Given the description of an element on the screen output the (x, y) to click on. 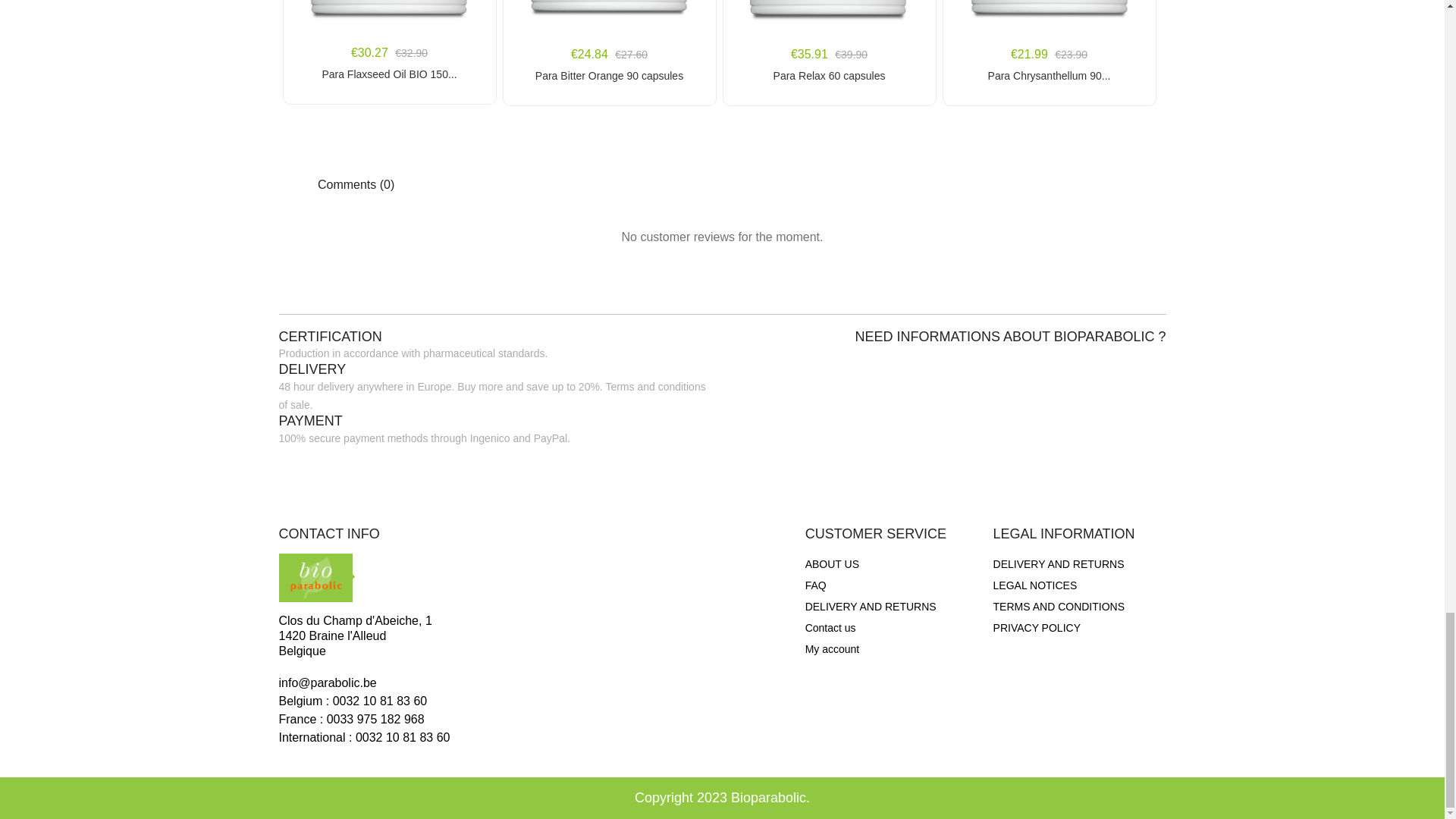
Aide (816, 585)
Para Relax 60 capsules (828, 75)
Para Flaxseed Oil BIO 150 capsules (388, 73)
Para Chrysanthellum 90 capsules (1047, 75)
Para Bitter Orange 90 capsules (608, 75)
To know more about our company (832, 563)
